Given the description of an element on the screen output the (x, y) to click on. 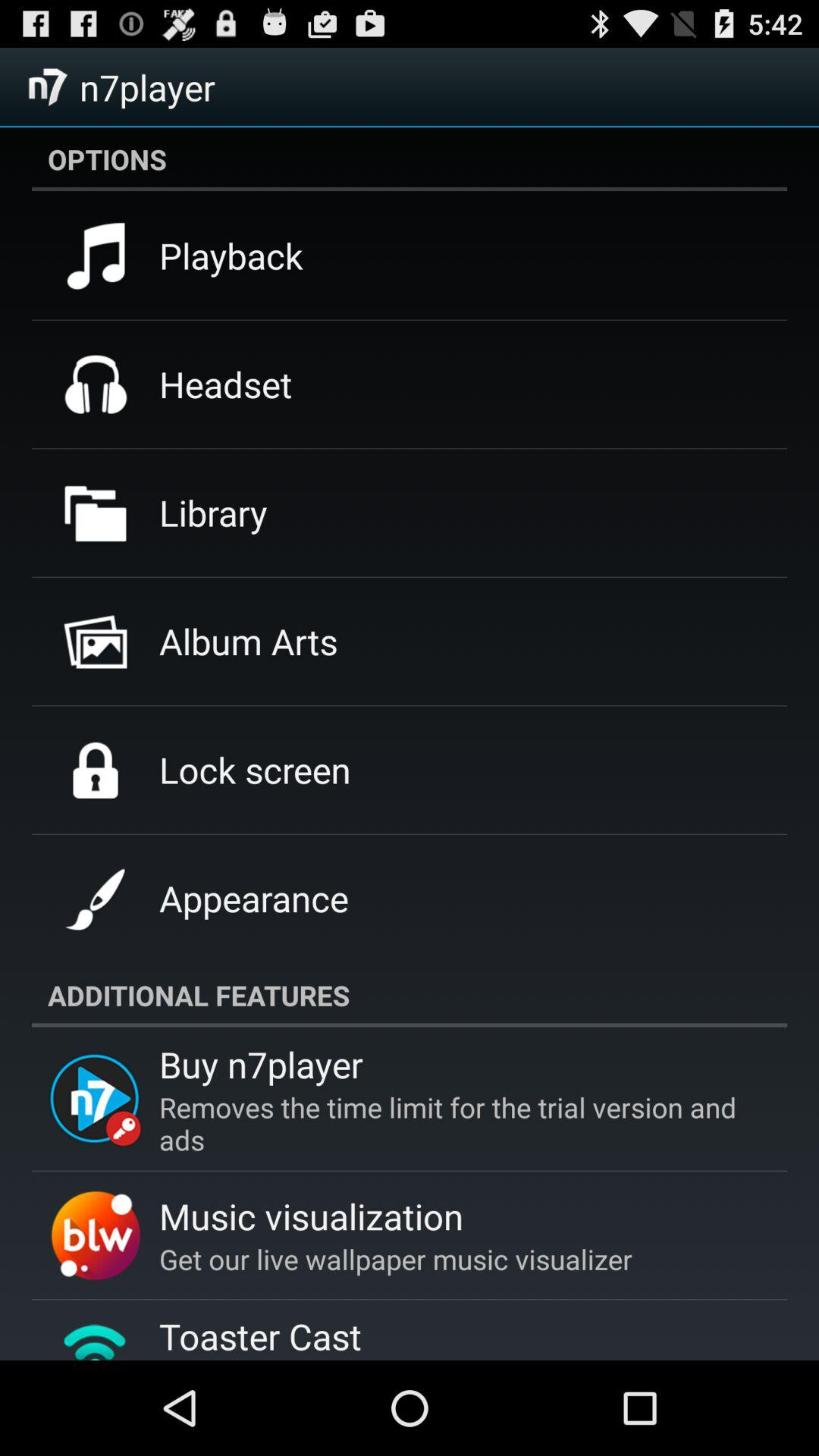
select the icon below the options app (231, 255)
